Given the description of an element on the screen output the (x, y) to click on. 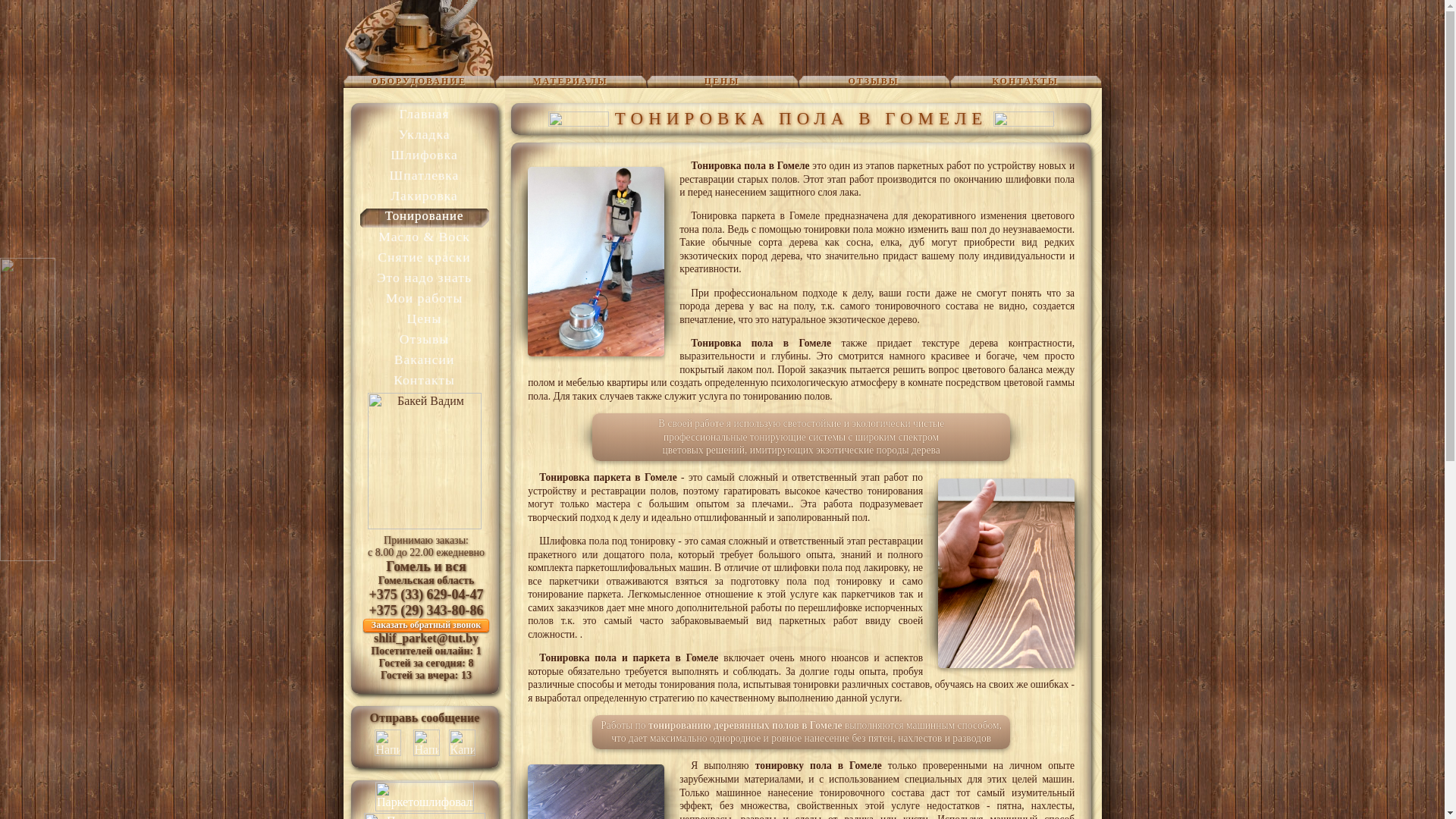
+375 (33) 629-04-47 Element type: text (425, 594)
+375 (29) 343-80-86 Element type: text (425, 610)
